Given the description of an element on the screen output the (x, y) to click on. 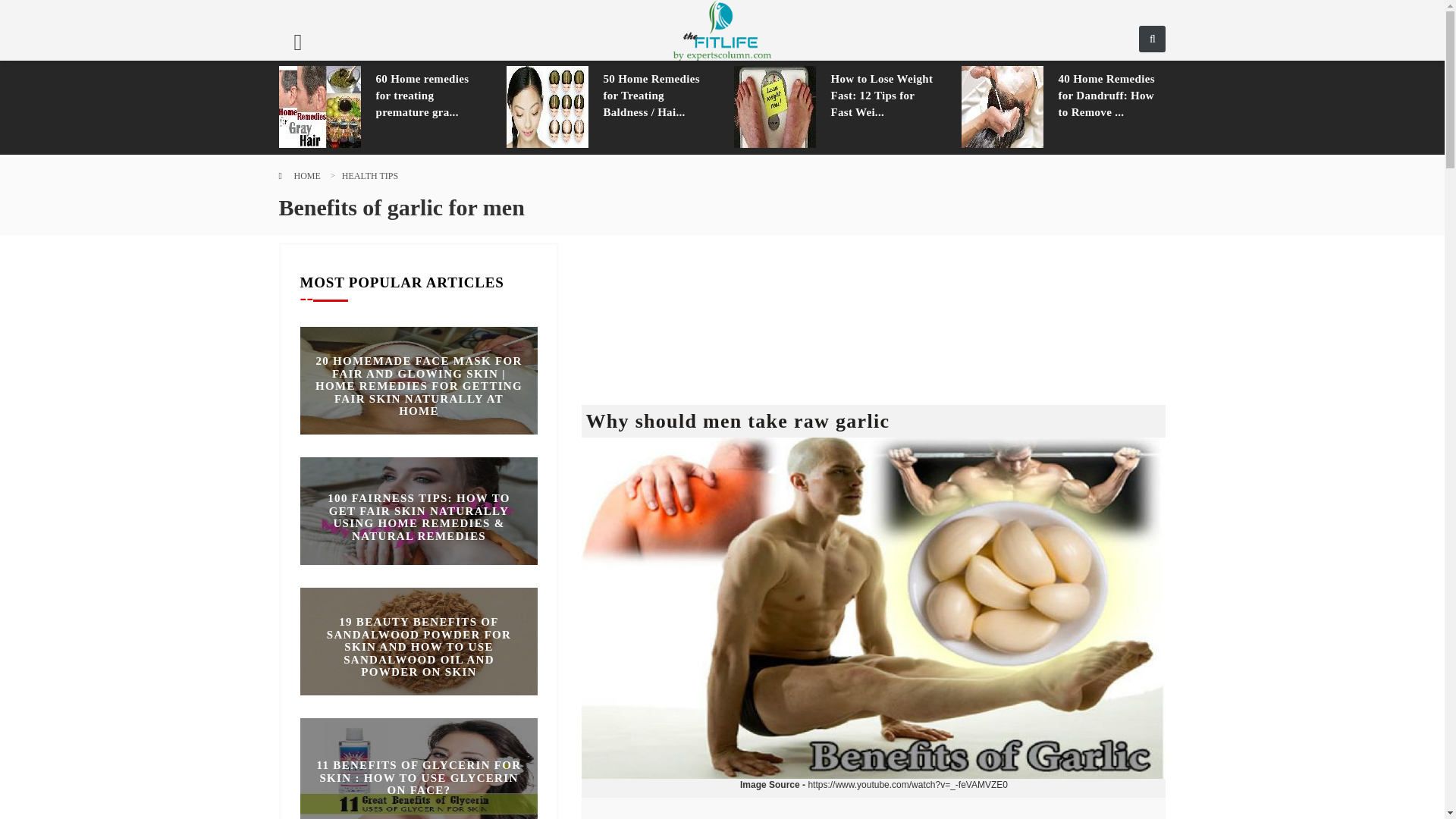
60 Home remedies for treating premature gra... (429, 95)
HEALTH TIPS (369, 175)
40 Home Remedies for Dandruff: How to Remove ... (1112, 95)
HOME (307, 175)
How to Lose Weight Fast: 12 Tips for Fast Wei... (885, 95)
